Given the description of an element on the screen output the (x, y) to click on. 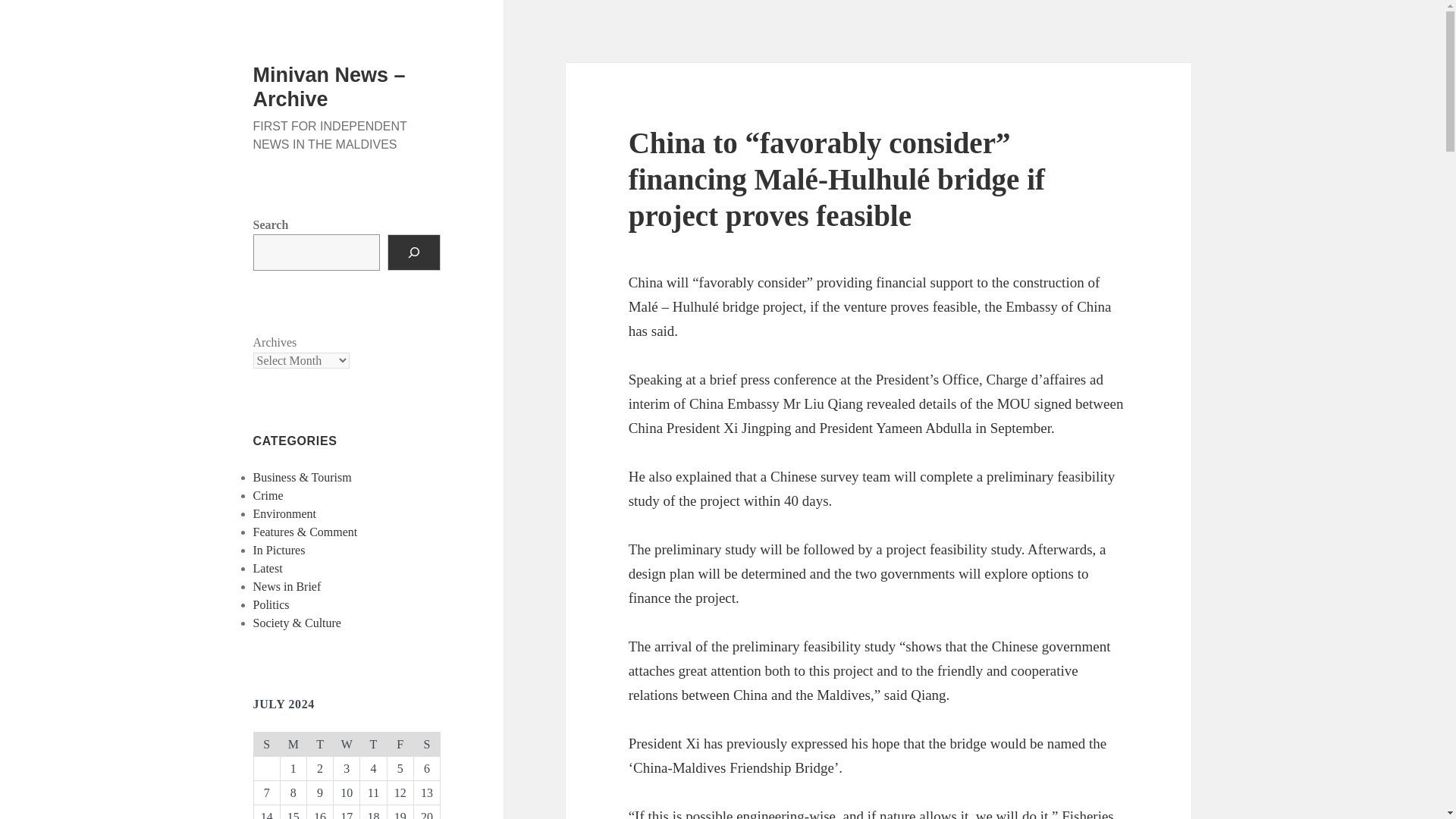
Friday (400, 743)
In Pictures (279, 549)
Sunday (266, 743)
Tuesday (319, 743)
Latest (267, 567)
Environment (285, 513)
Monday (292, 743)
Thursday (373, 743)
Politics (271, 604)
Crime (268, 495)
Saturday (426, 743)
News in Brief (287, 585)
Wednesday (346, 743)
